Given the description of an element on the screen output the (x, y) to click on. 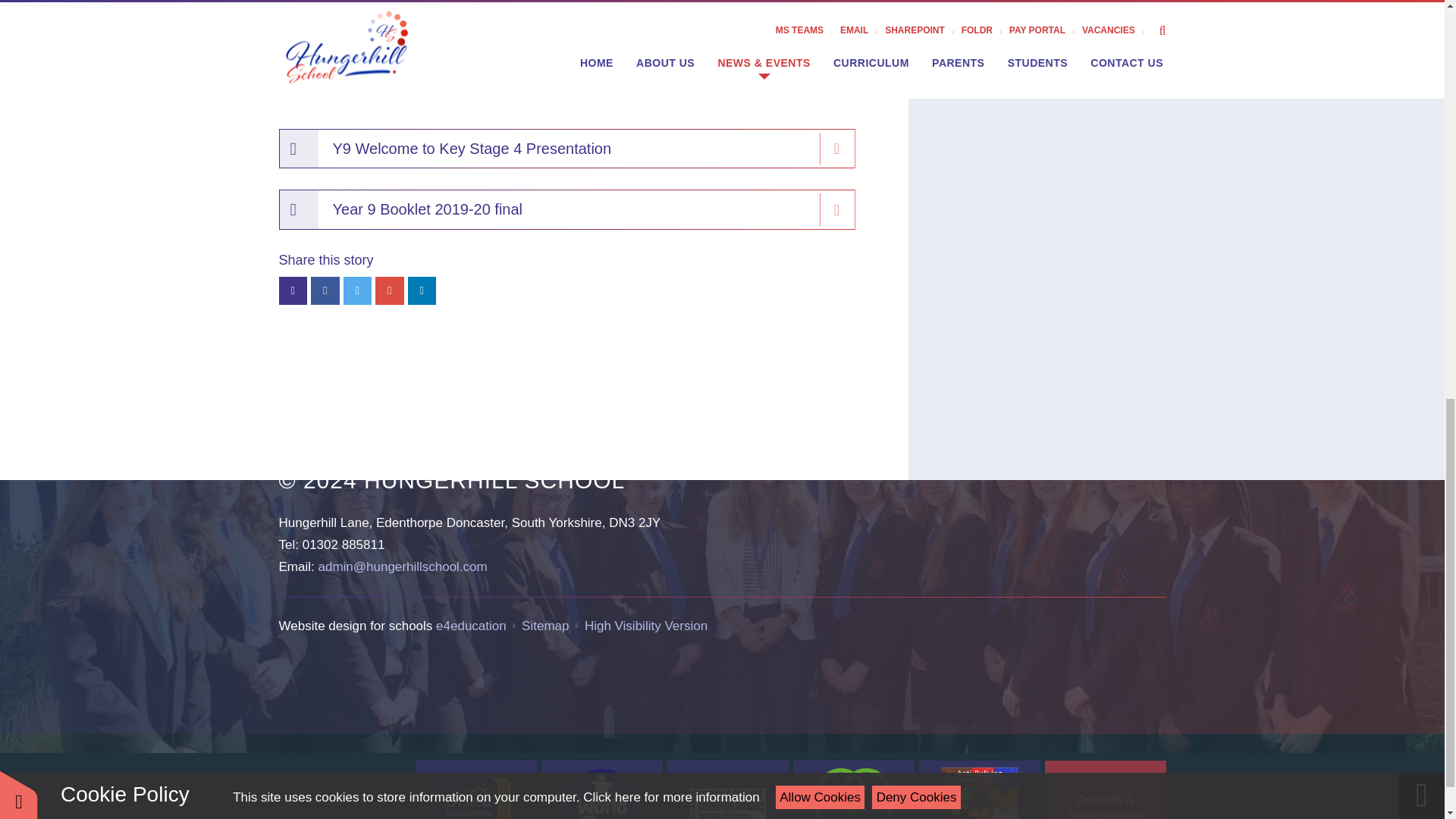
MHA (853, 789)
WCSQM (601, 789)
Stonewall School Champion (727, 789)
Anti -Bullying (979, 789)
Ofsted (475, 789)
